Given the description of an element on the screen output the (x, y) to click on. 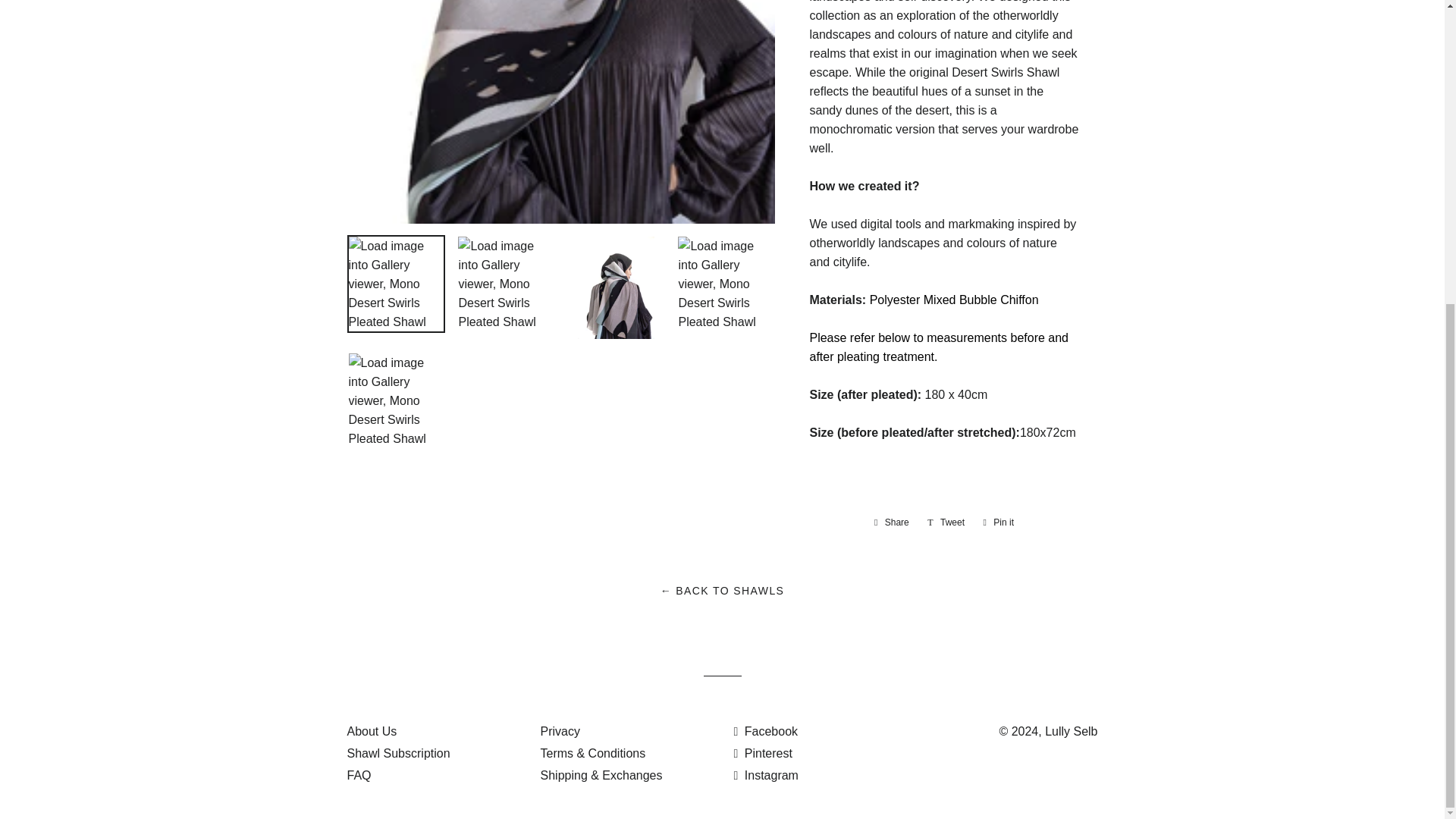
Pin on Pinterest (998, 522)
Share on Facebook (891, 522)
Lully Selb  on Instagram (765, 775)
Tweet on Twitter (946, 522)
Lully Selb  on Facebook (765, 730)
Lully Selb  on Pinterest (762, 753)
